Given the description of an element on the screen output the (x, y) to click on. 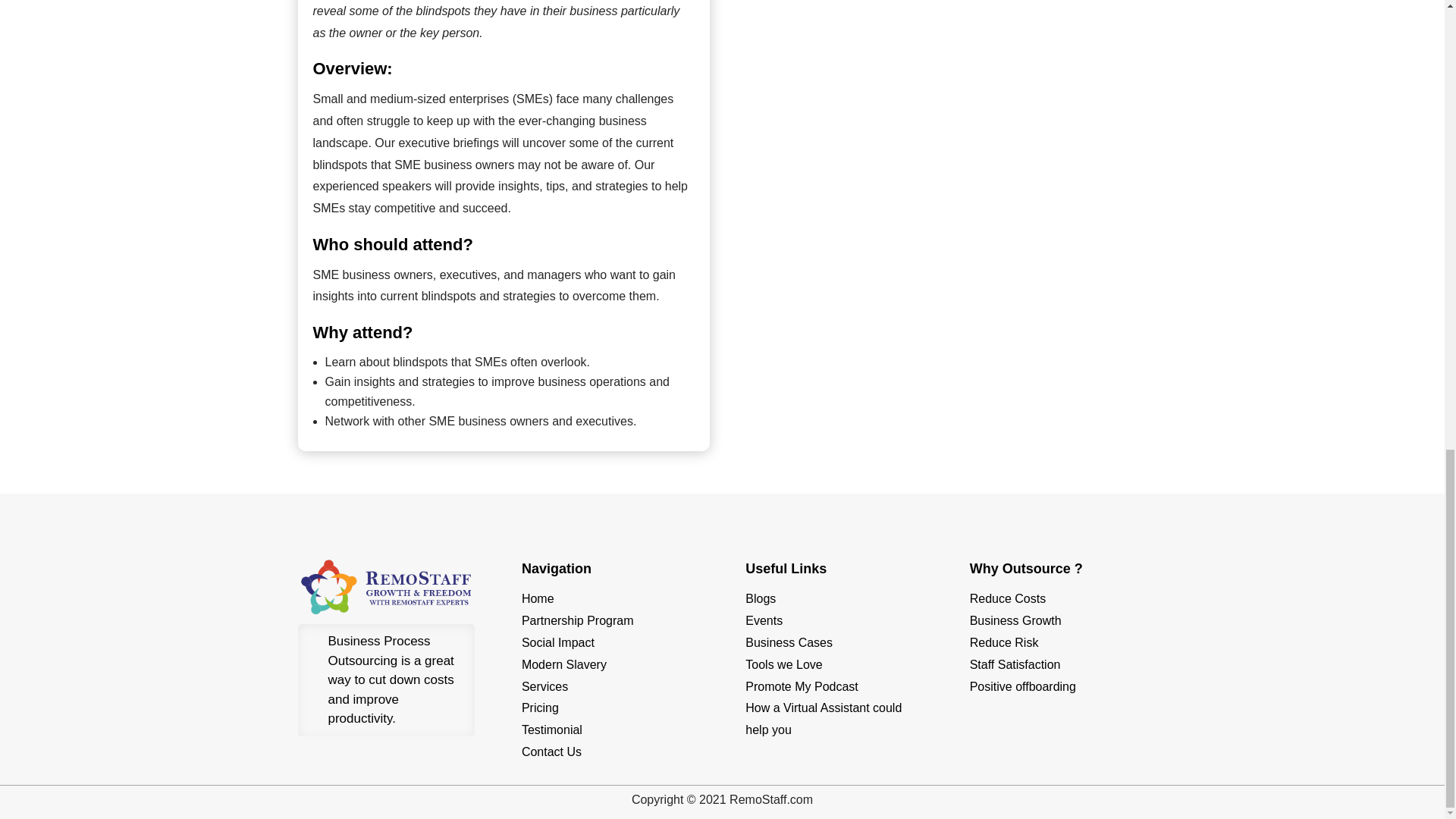
Tools we Love (783, 664)
Testimonial (551, 729)
Promote My Podcast (802, 686)
Blogs (760, 598)
Home (537, 598)
Services (544, 686)
Events (764, 620)
Contact Us (550, 751)
Partnership Program (577, 620)
Social Impact (557, 642)
Business Cases (788, 642)
Pricing (540, 707)
Modern Slavery (564, 664)
